Given the description of an element on the screen output the (x, y) to click on. 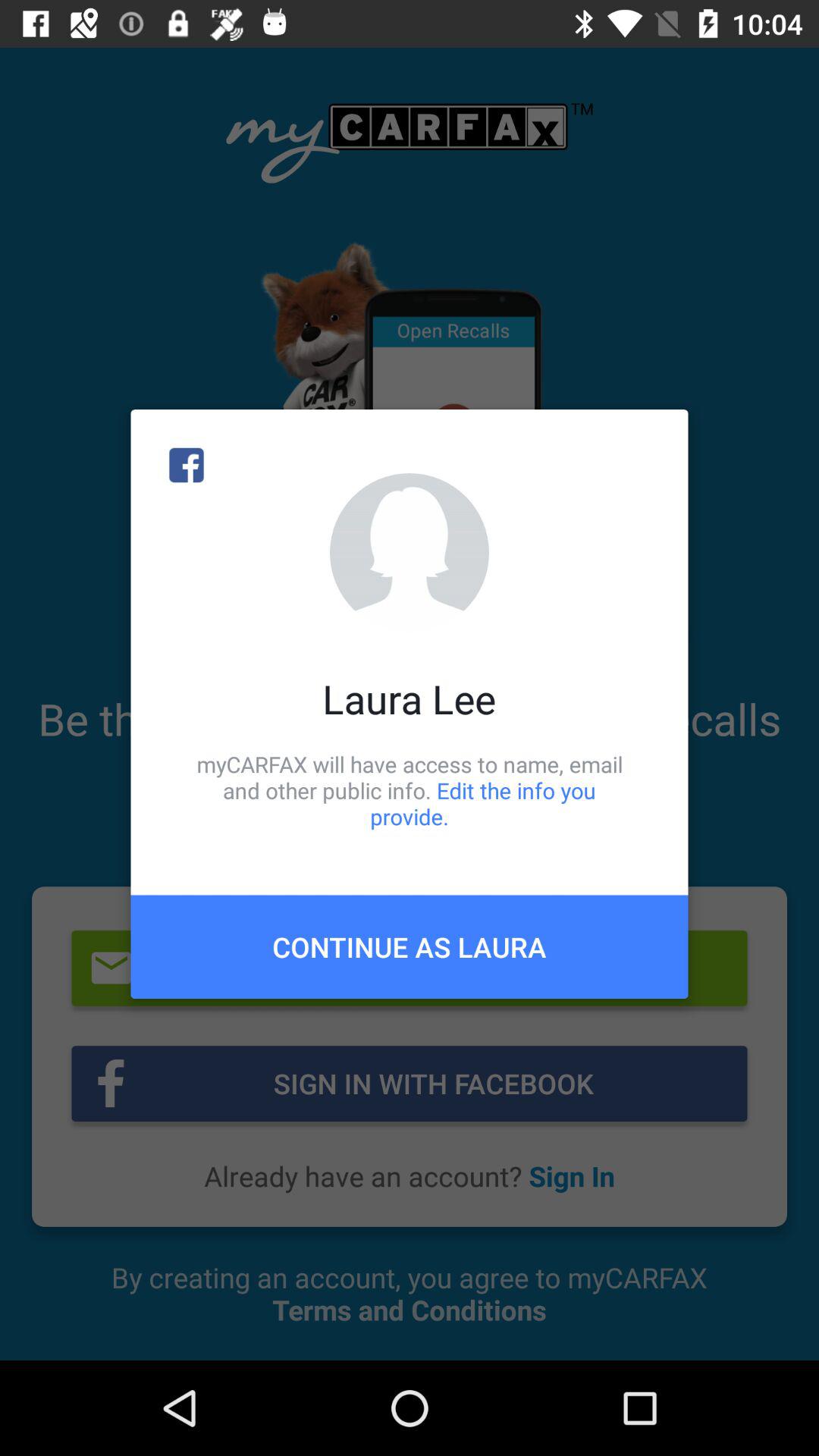
launch the icon above continue as laura item (409, 790)
